Given the description of an element on the screen output the (x, y) to click on. 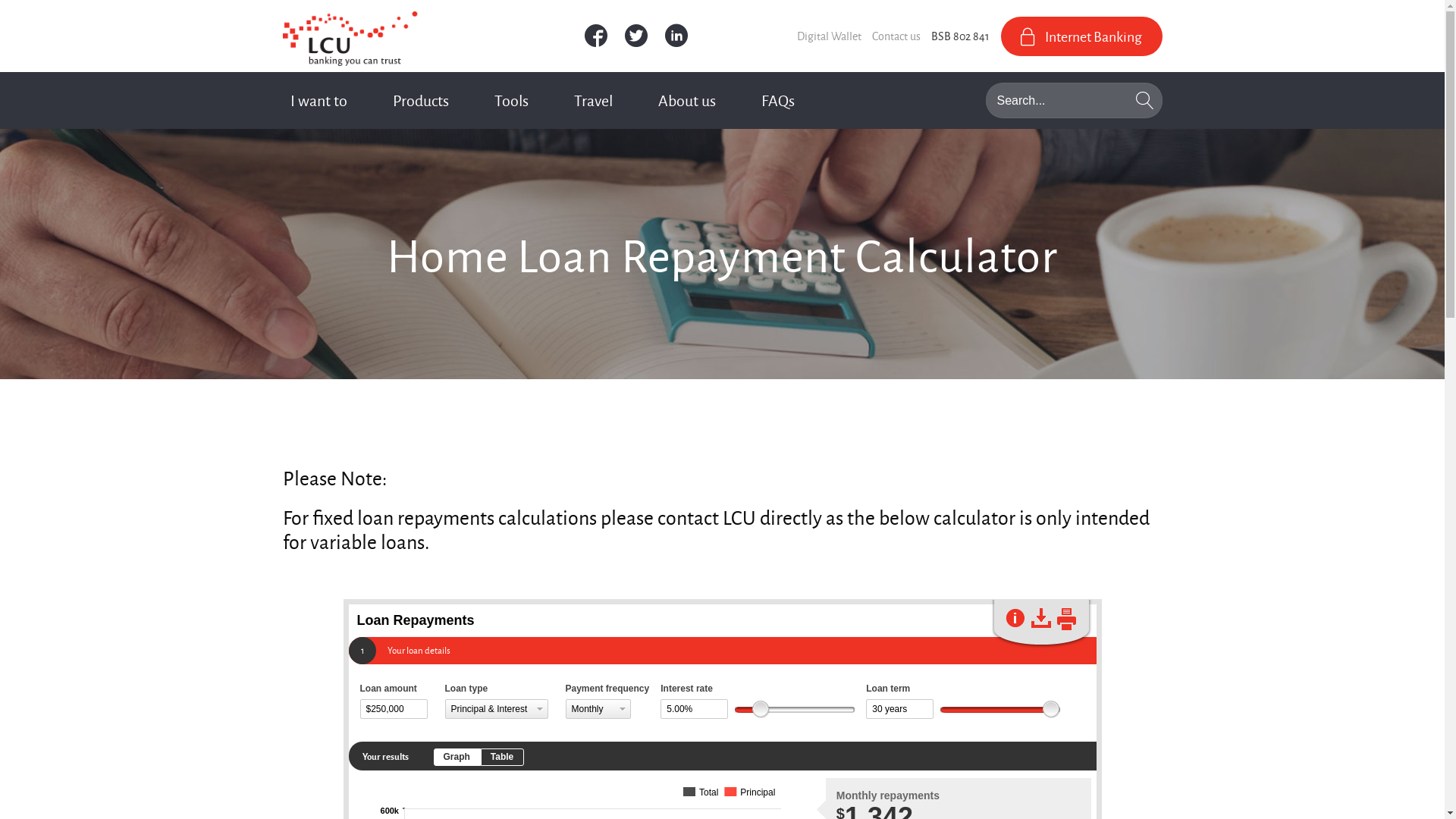
Principal & Interest Element type: text (495, 708)
Contact us Element type: text (896, 35)
Print Element type: hover (1066, 619)
Travel Element type: text (592, 100)
Save Element type: hover (1041, 617)
Internet Banking Element type: text (1081, 36)
I want to Element type: text (317, 100)
Digital Wallet Element type: text (829, 35)
Monthly Element type: text (597, 708)
About us Element type: text (686, 100)
BSB 802 841 Element type: text (960, 35)
Information Element type: hover (1015, 617)
Tools Element type: text (511, 100)
Products Element type: text (420, 100)
FAQs Element type: text (777, 100)
